Given the description of an element on the screen output the (x, y) to click on. 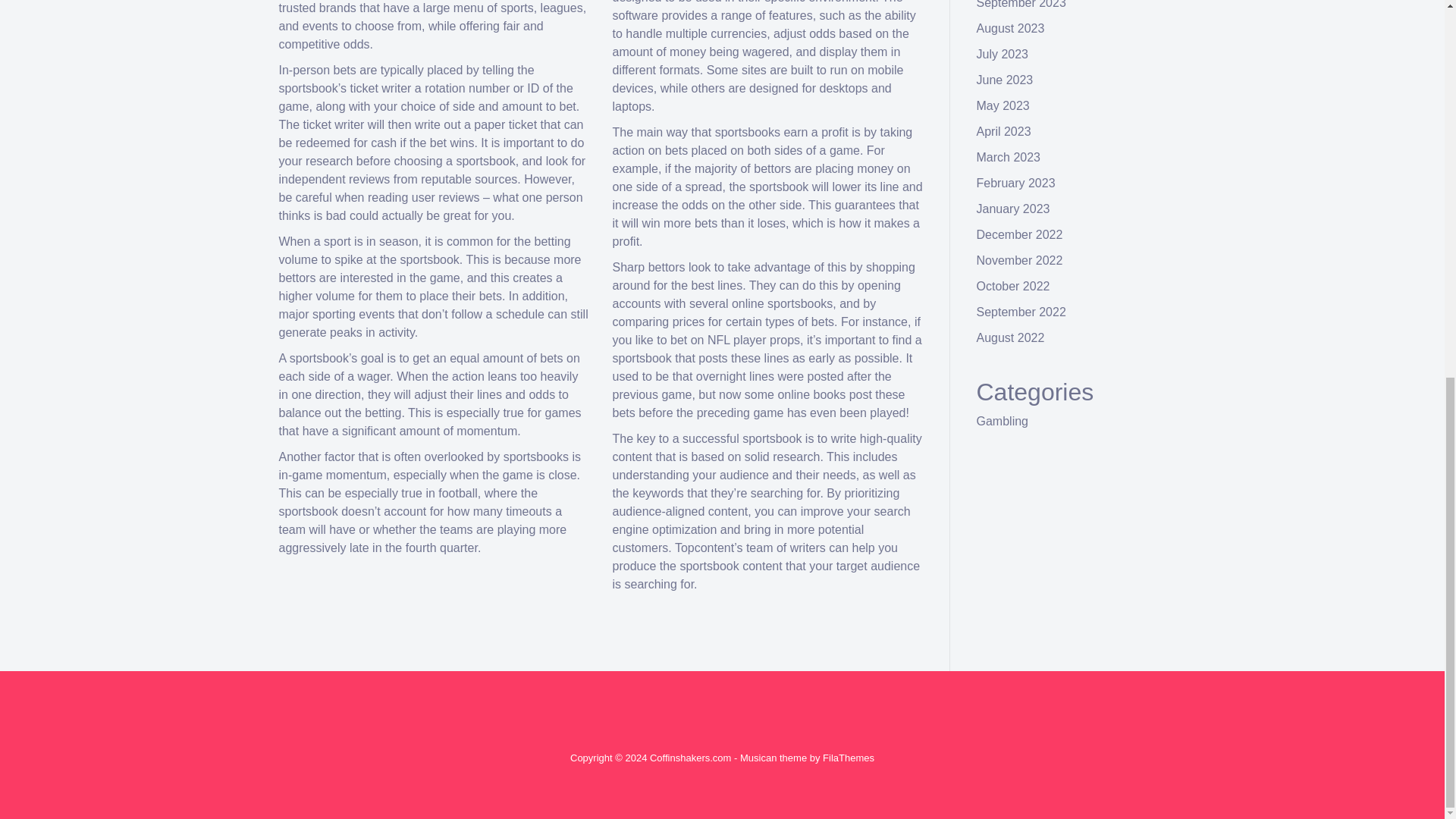
July 2023 (1002, 53)
May 2023 (1002, 105)
September 2023 (1020, 4)
March 2023 (1008, 156)
August 2023 (1010, 28)
January 2023 (1012, 208)
February 2023 (1015, 182)
June 2023 (1004, 79)
April 2023 (1003, 131)
Coffinshakers.com (689, 757)
November 2022 (1019, 259)
December 2022 (1019, 234)
